Given the description of an element on the screen output the (x, y) to click on. 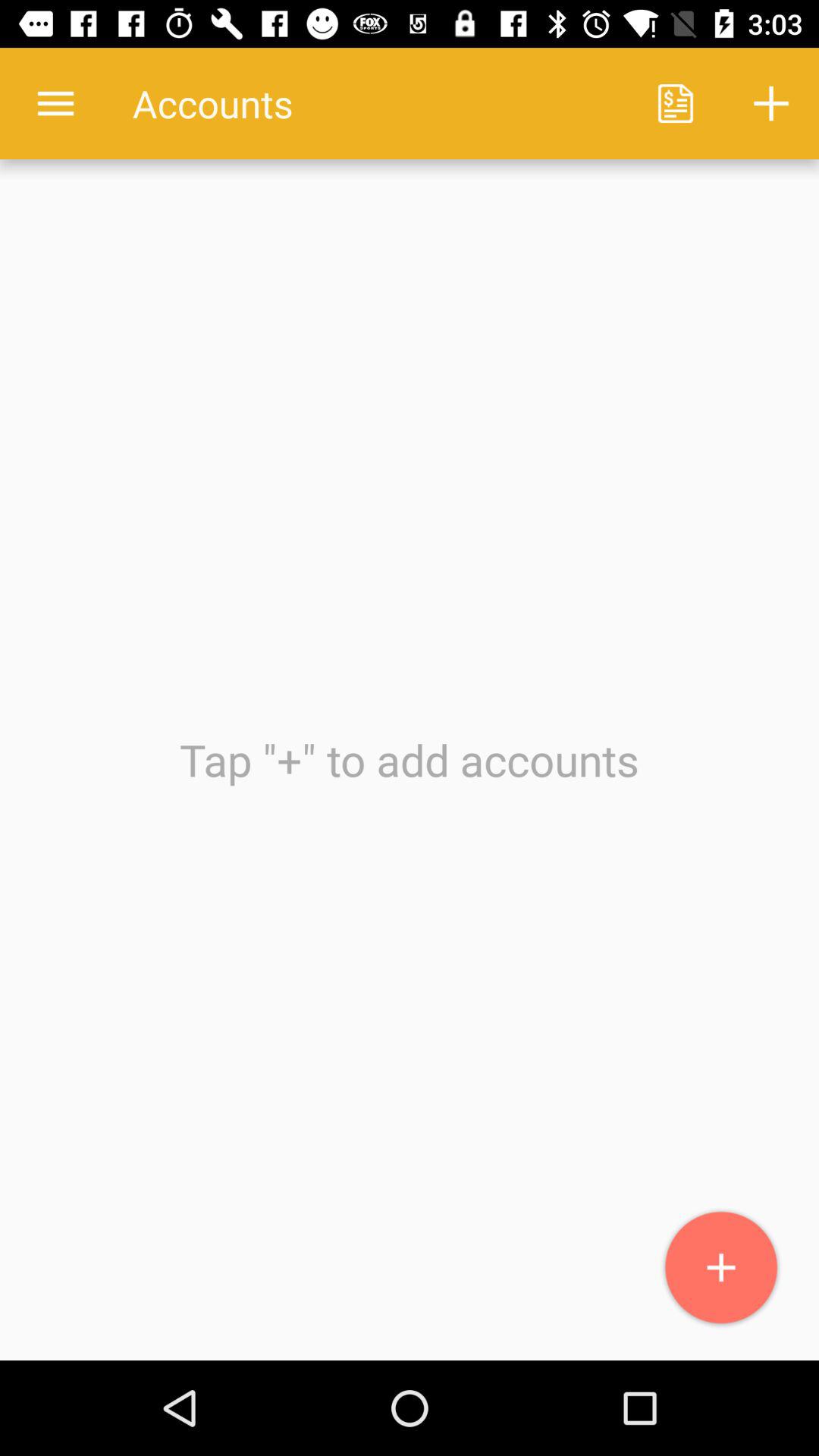
select icon to the right of the accounts (675, 103)
